Given the description of an element on the screen output the (x, y) to click on. 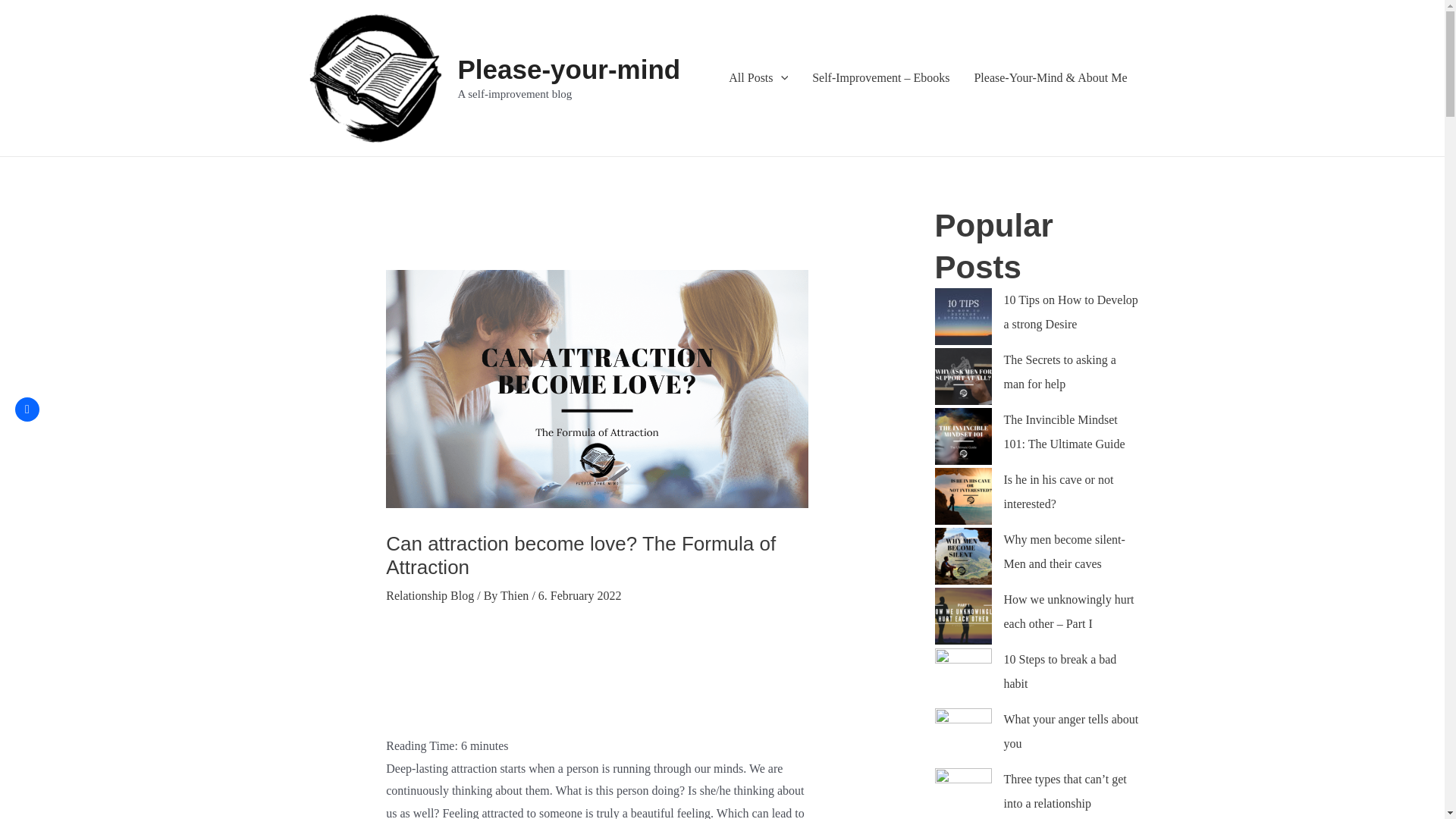
View all posts by Thien (515, 594)
Thien (515, 594)
Relationship Blog (429, 594)
Please-your-mind (569, 69)
All Posts (757, 77)
